Given the description of an element on the screen output the (x, y) to click on. 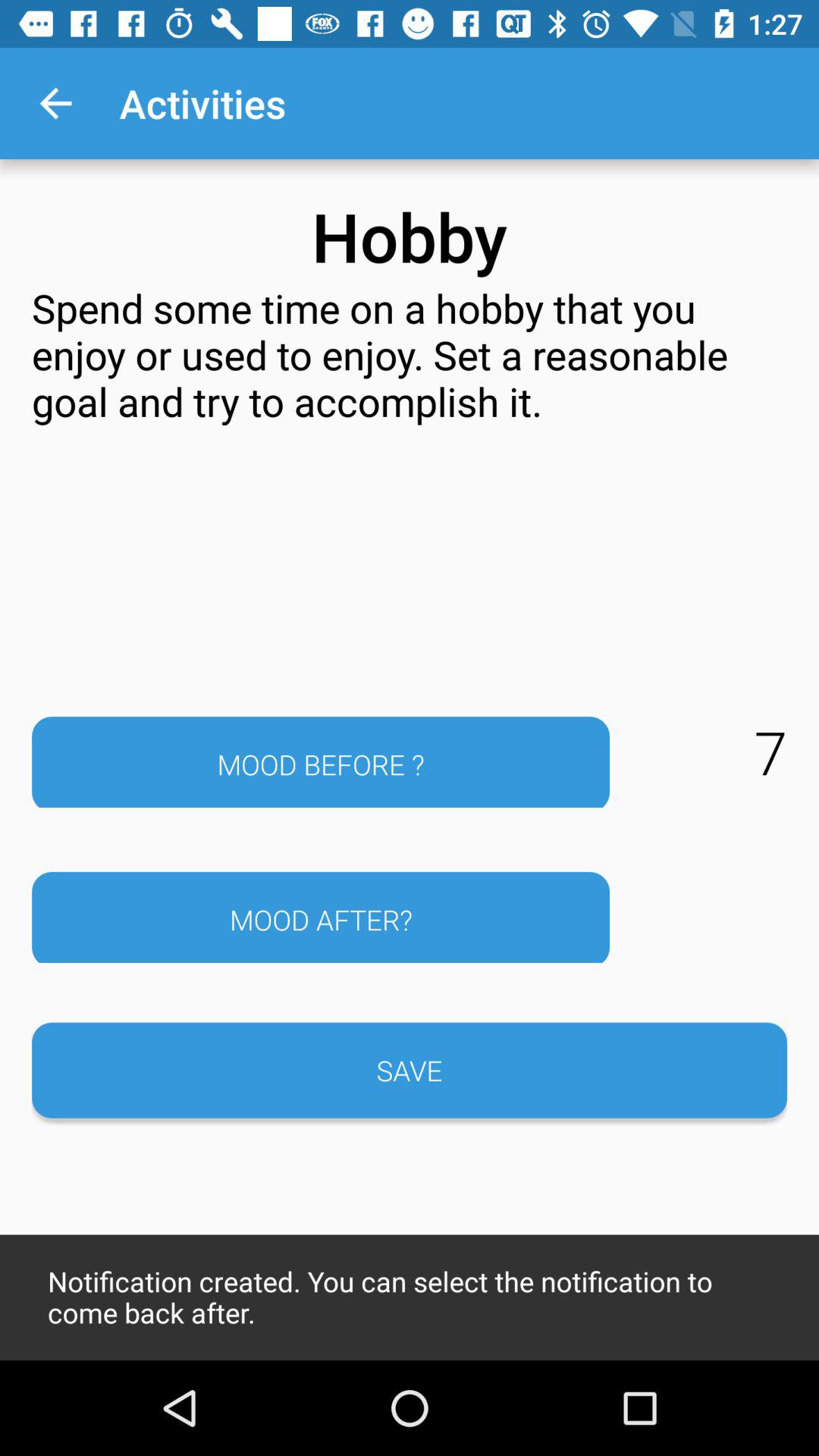
tap icon below mood after? icon (409, 1070)
